Given the description of an element on the screen output the (x, y) to click on. 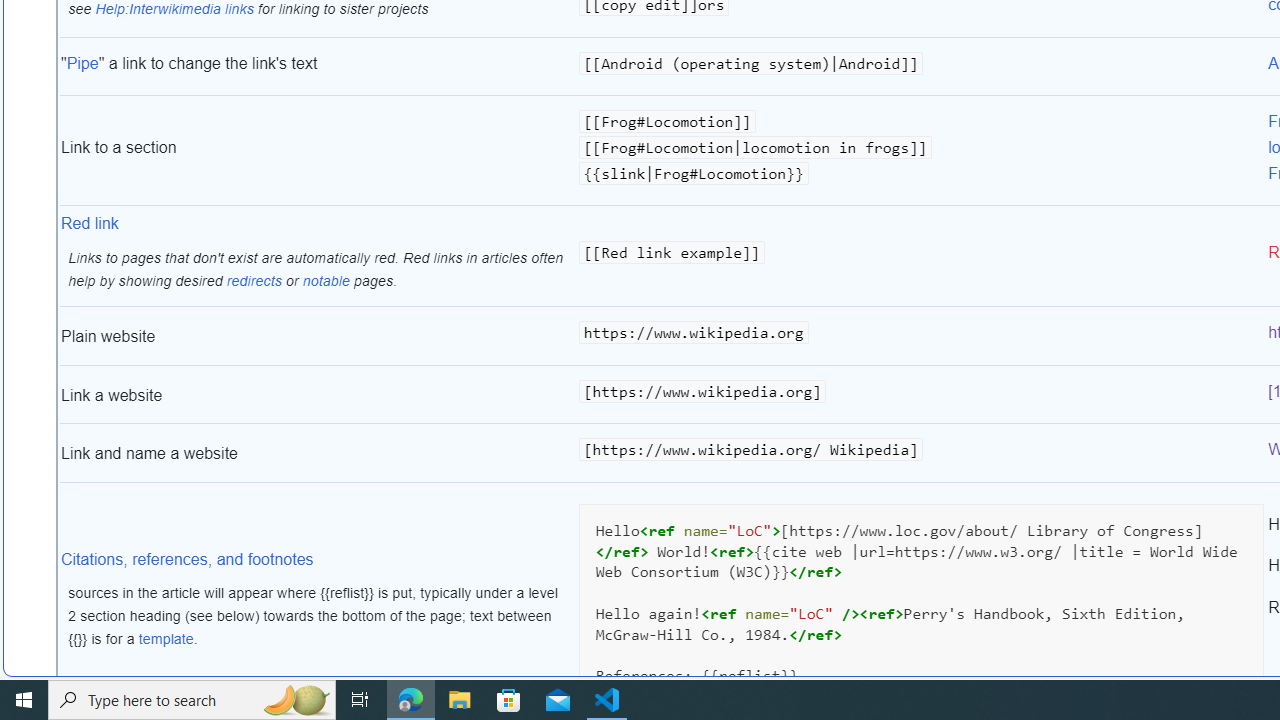
Red link (90, 224)
Citations, references, and footnotes (187, 559)
[https://www.wikipedia.org] (921, 394)
[https://www.wikipedia.org/ Wikipedia] (921, 453)
https://www.wikipedia.org (921, 336)
[[Android (operating system)|Android]] (921, 67)
Pipe (82, 63)
Link a website (318, 394)
Link and name a website (318, 453)
"Pipe" a link to change the link's text (318, 67)
Help:Interwikimedia links (173, 8)
Link to a section (318, 151)
notable (325, 280)
